Given the description of an element on the screen output the (x, y) to click on. 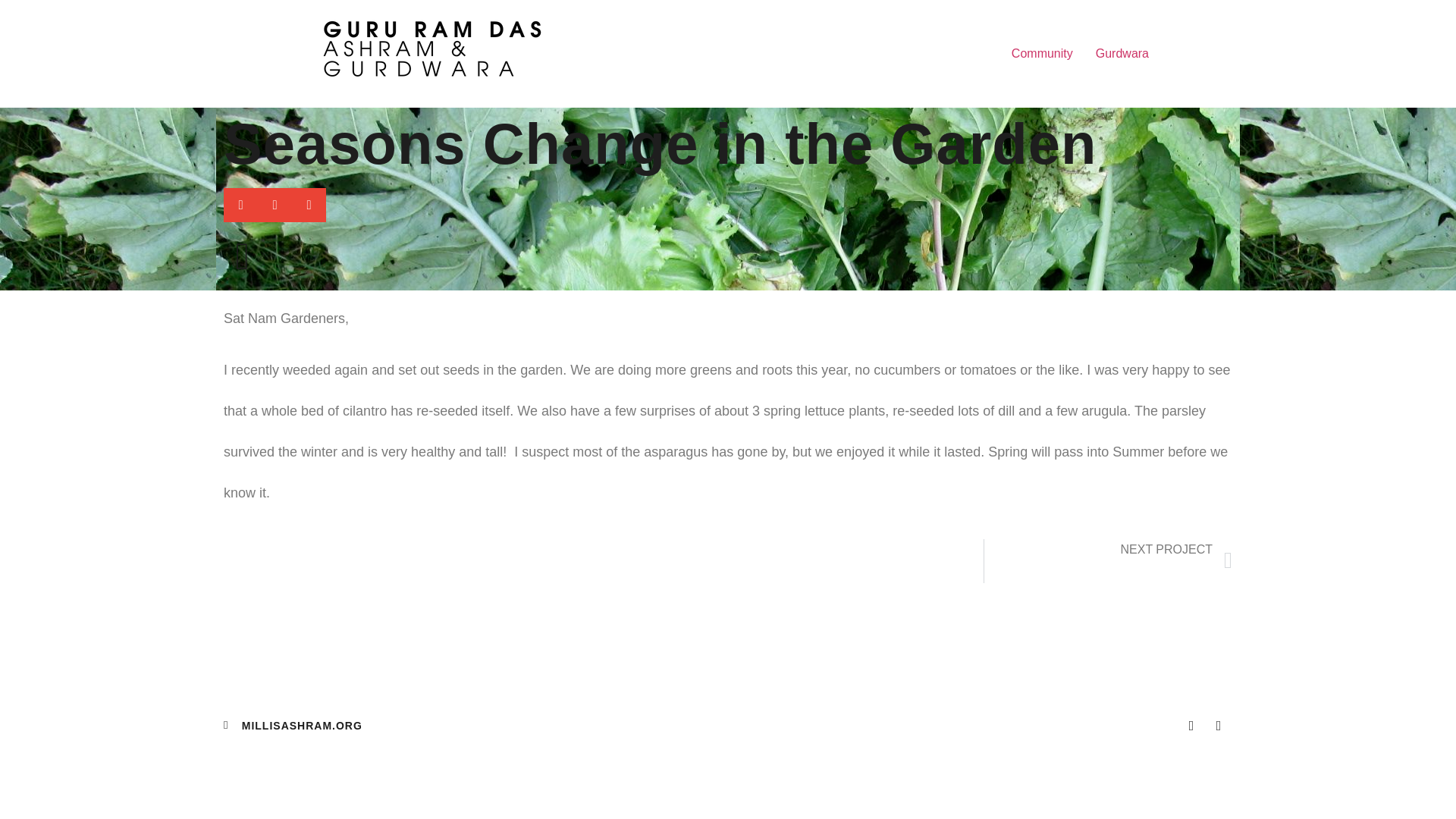
Community (1042, 53)
Gurdwara (1122, 53)
